Given the description of an element on the screen output the (x, y) to click on. 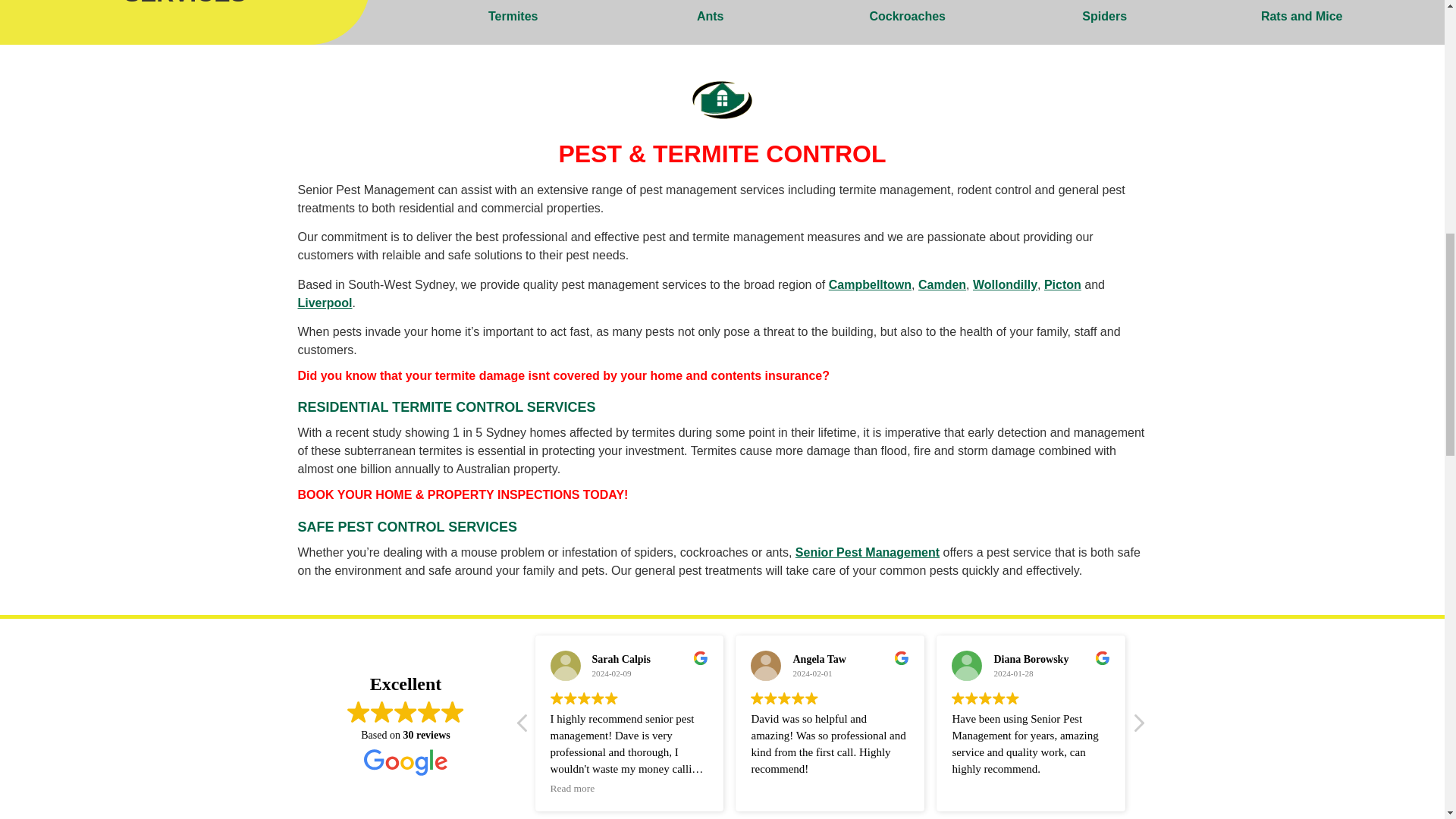
Senior Pest Management (866, 552)
Camden (942, 284)
Wollondilly (1004, 284)
Liverpool (324, 302)
Campbelltown (869, 284)
Picton (1062, 284)
